Given the description of an element on the screen output the (x, y) to click on. 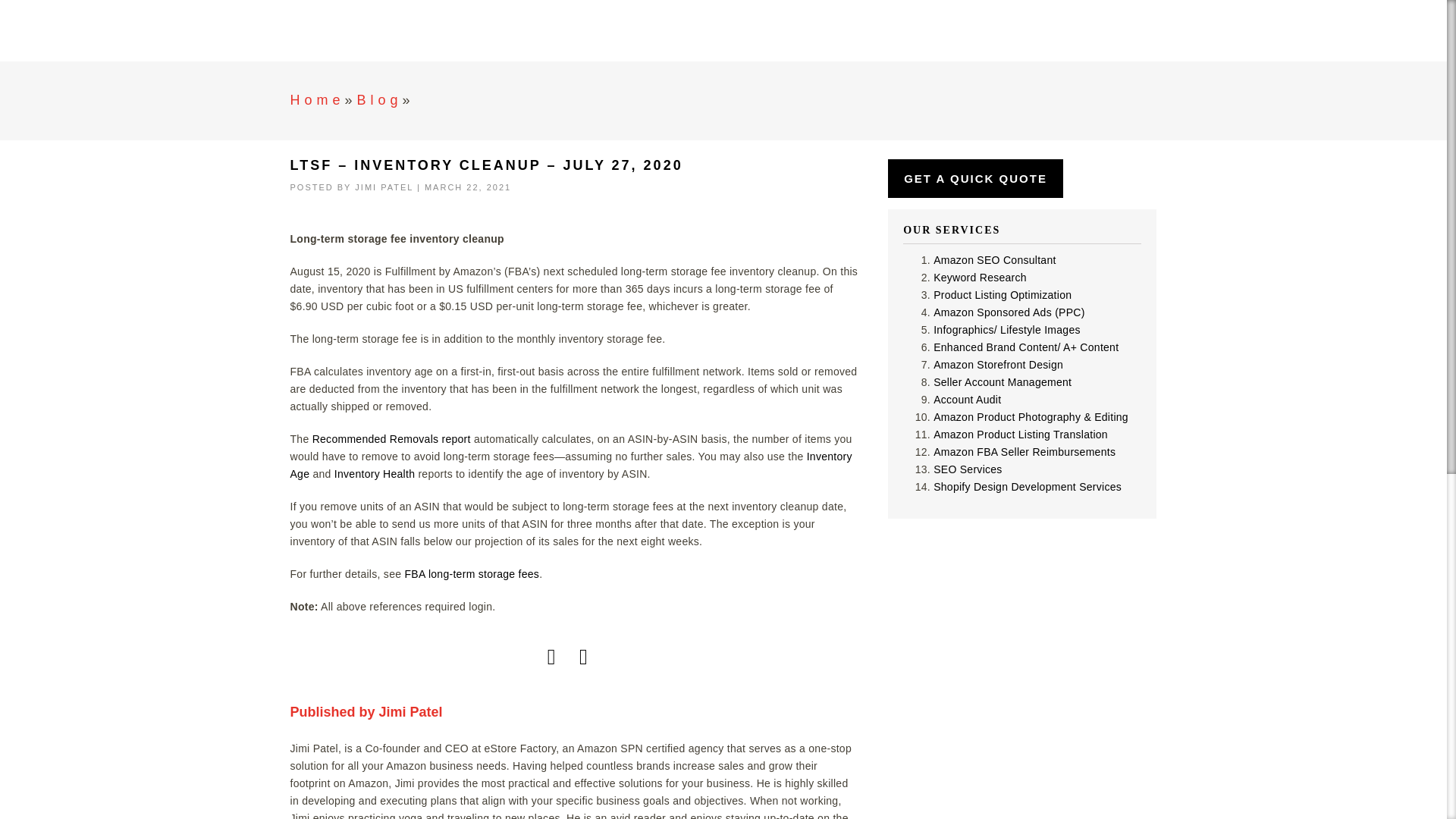
GET A QUICK QUOTE (975, 178)
Shopify Design Development Services (1027, 486)
Product Listing Optimization (1002, 295)
Recommended Removals report (391, 439)
Amazon Consultant (392, 32)
SEO Services (968, 469)
Account Audit (967, 399)
Amazon Product Listing Translation (1020, 434)
Inventory Health (374, 473)
Product Listing Optimization (1002, 295)
Amazon Storefront Design (997, 364)
Keyword Research (979, 277)
Amazon FBA Seller Reimbursements (1024, 451)
Account Audit (967, 399)
Seller Account Management (1002, 381)
